Given the description of an element on the screen output the (x, y) to click on. 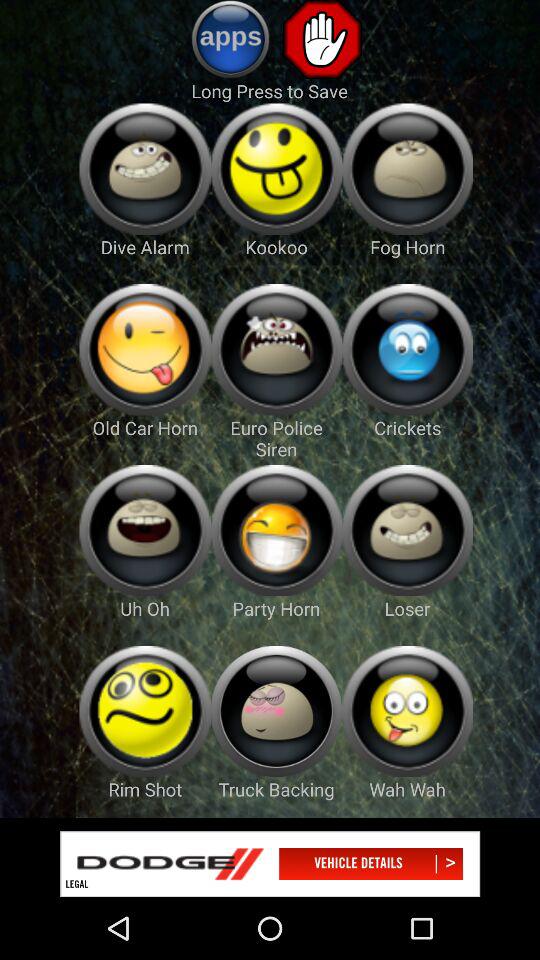
drive alaram (144, 168)
